Given the description of an element on the screen output the (x, y) to click on. 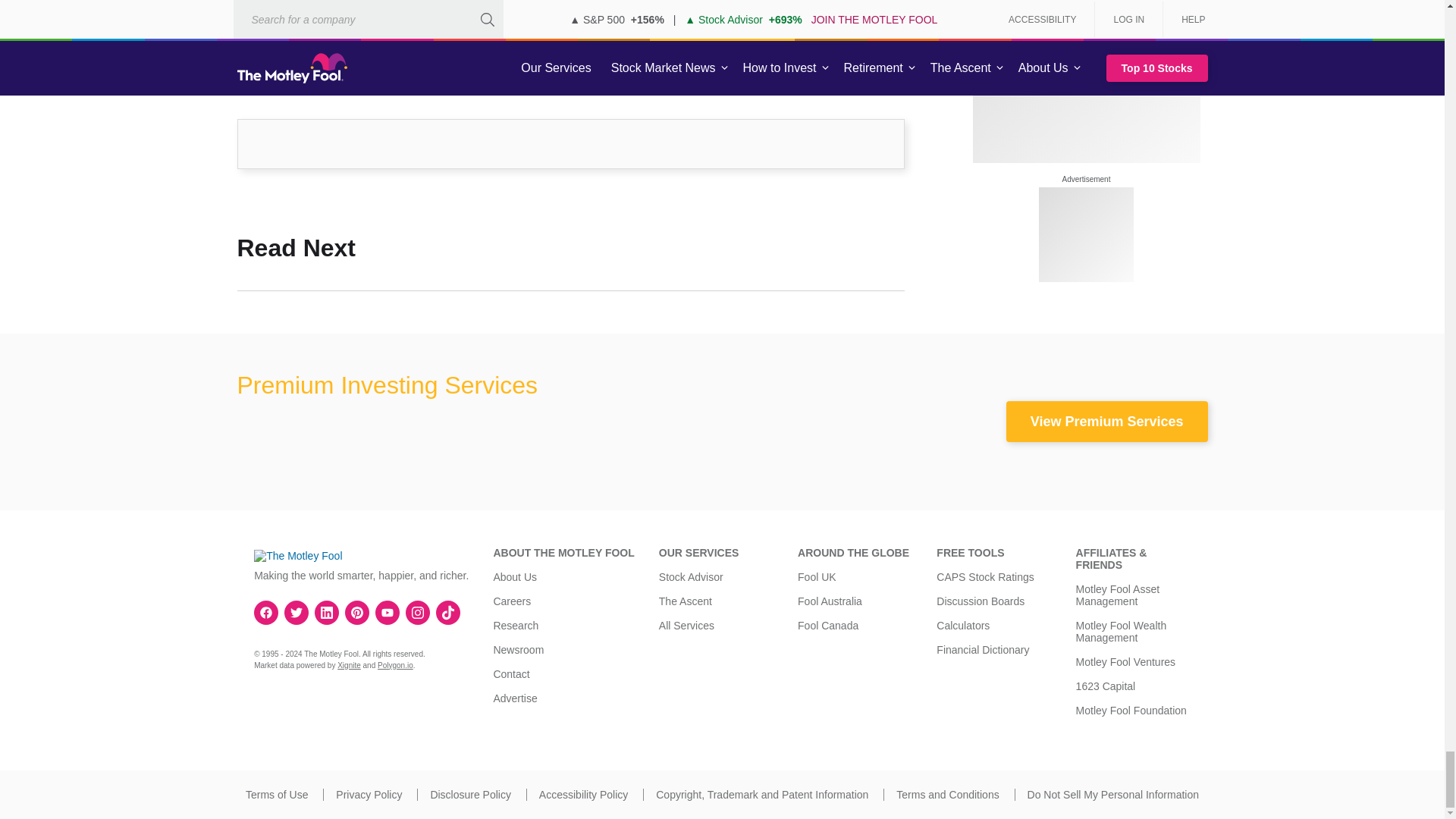
Terms and Conditions (947, 794)
Copyright, Trademark and Patent Information (761, 794)
Do Not Sell My Personal Information. (1112, 794)
Terms of Use (276, 794)
Disclosure Policy (470, 794)
Accessibility Policy (582, 794)
Privacy Policy (368, 794)
